Given the description of an element on the screen output the (x, y) to click on. 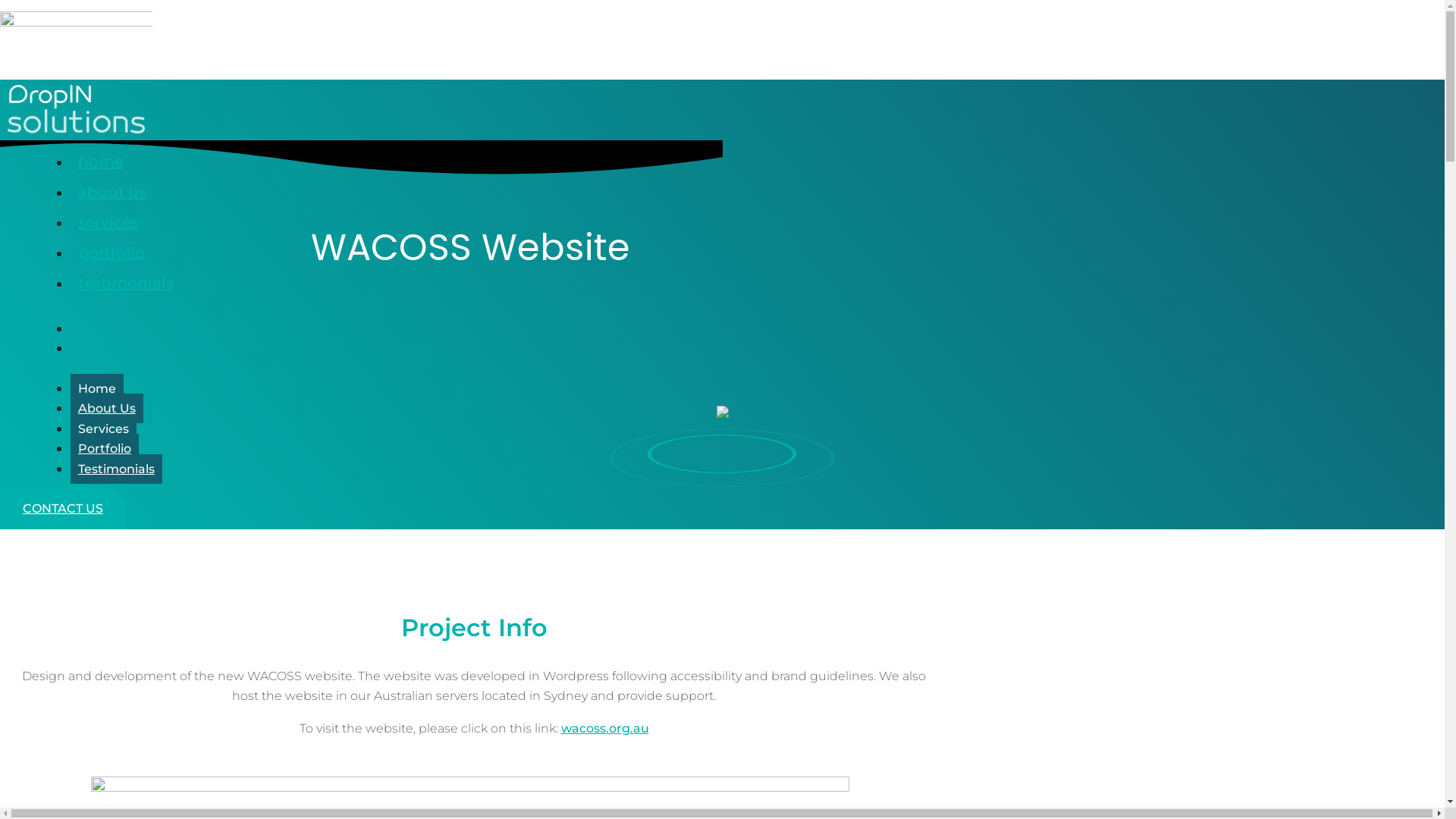
About Us Element type: text (106, 408)
Portfolio Element type: text (104, 448)
home Element type: text (100, 159)
wacoss.org.au Element type: text (605, 728)
testimonials Element type: text (125, 280)
CONTACT US Element type: text (62, 508)
services Element type: text (108, 219)
Services Element type: text (103, 428)
portfolio Element type: text (111, 250)
about us Element type: text (112, 189)
Testimonials Element type: text (116, 468)
Home Element type: text (96, 388)
